Given the description of an element on the screen output the (x, y) to click on. 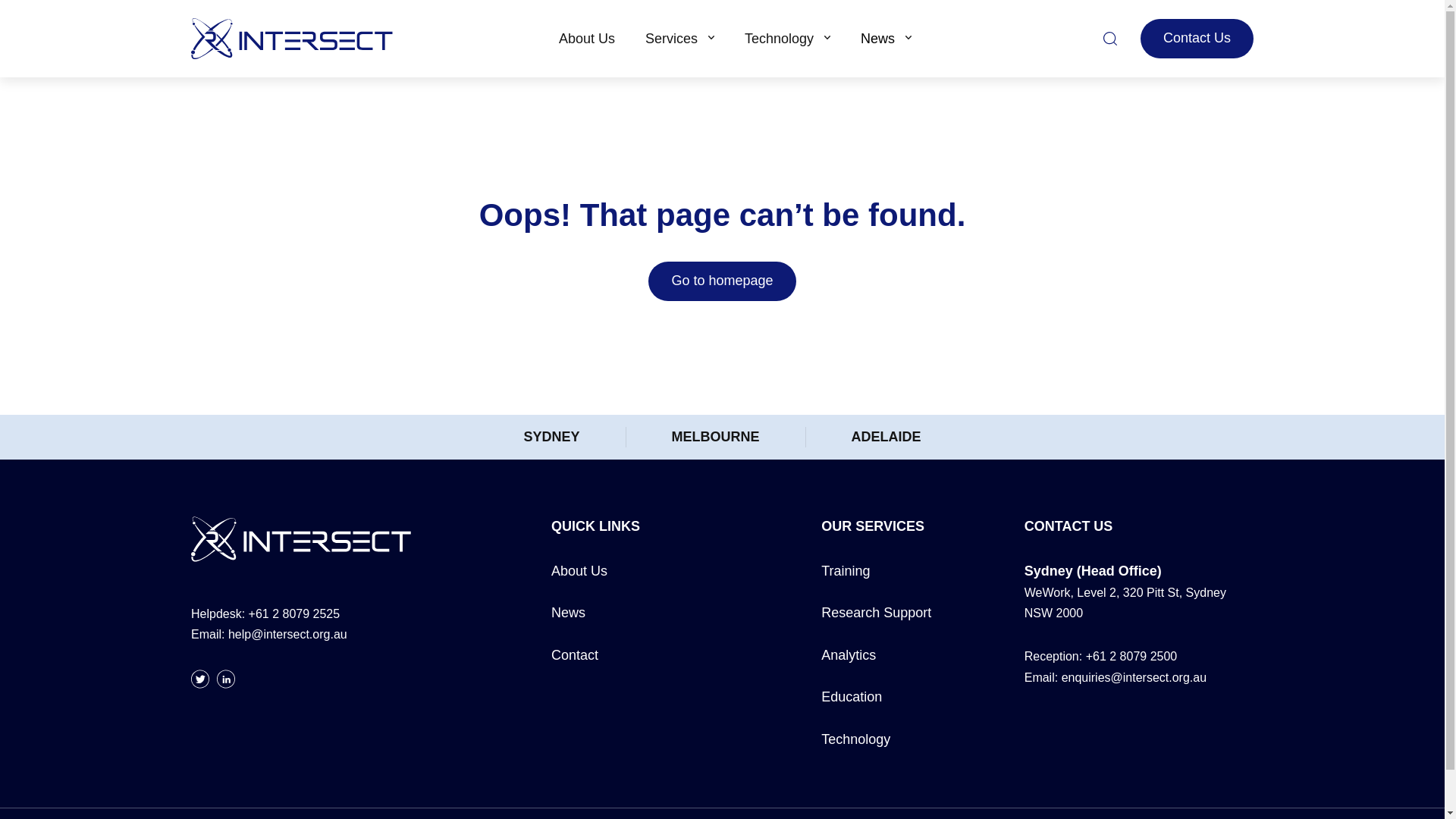
Analytics (848, 655)
ADELAIDE (885, 436)
SYDNEY (550, 436)
Research Support (876, 612)
MELBOURNE (715, 436)
About Us (579, 571)
News (568, 612)
Go to homepage (720, 281)
Technology (786, 38)
Training (845, 571)
